Given the description of an element on the screen output the (x, y) to click on. 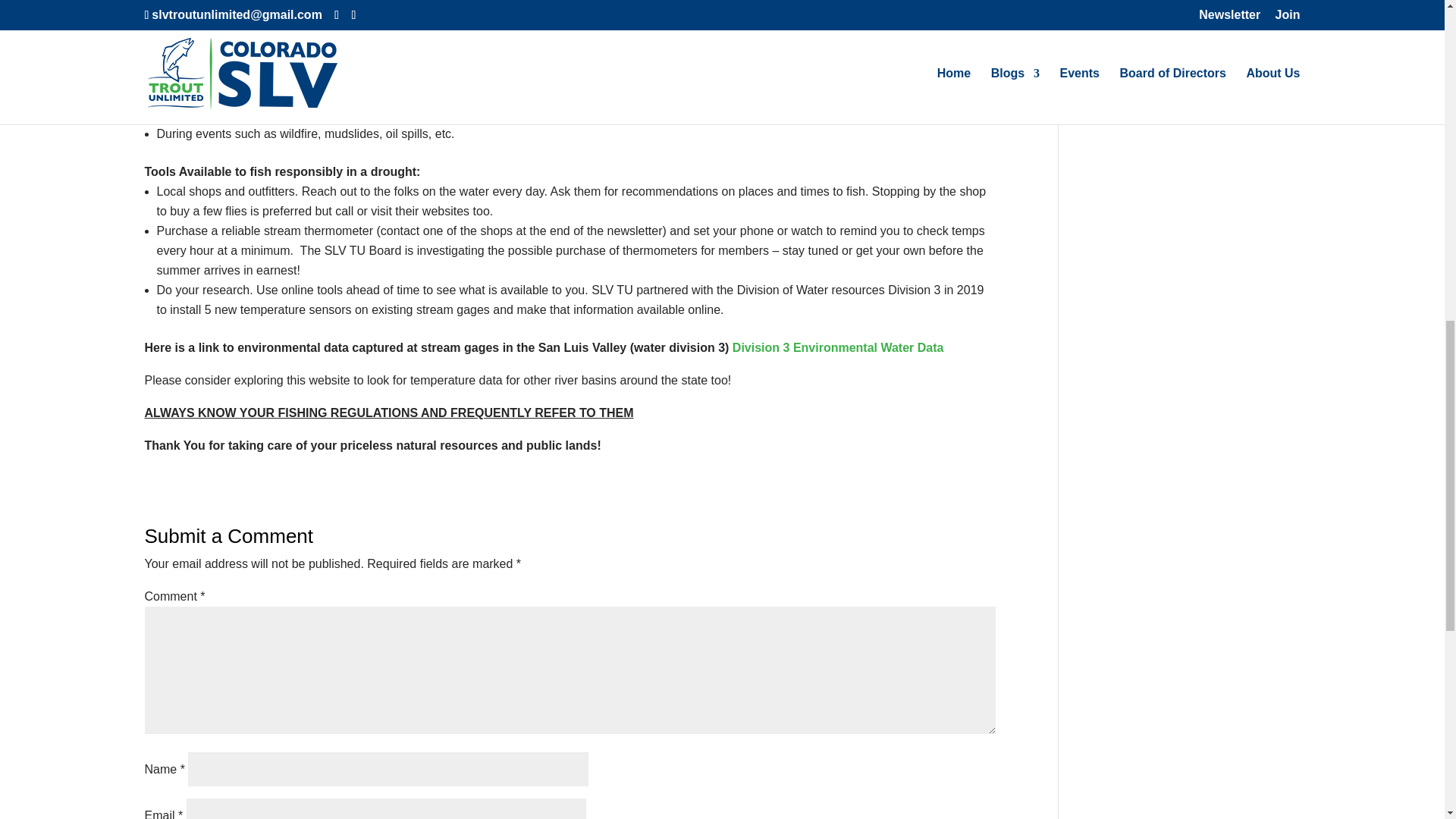
Division 3 Environmental Water Data (837, 347)
